Given the description of an element on the screen output the (x, y) to click on. 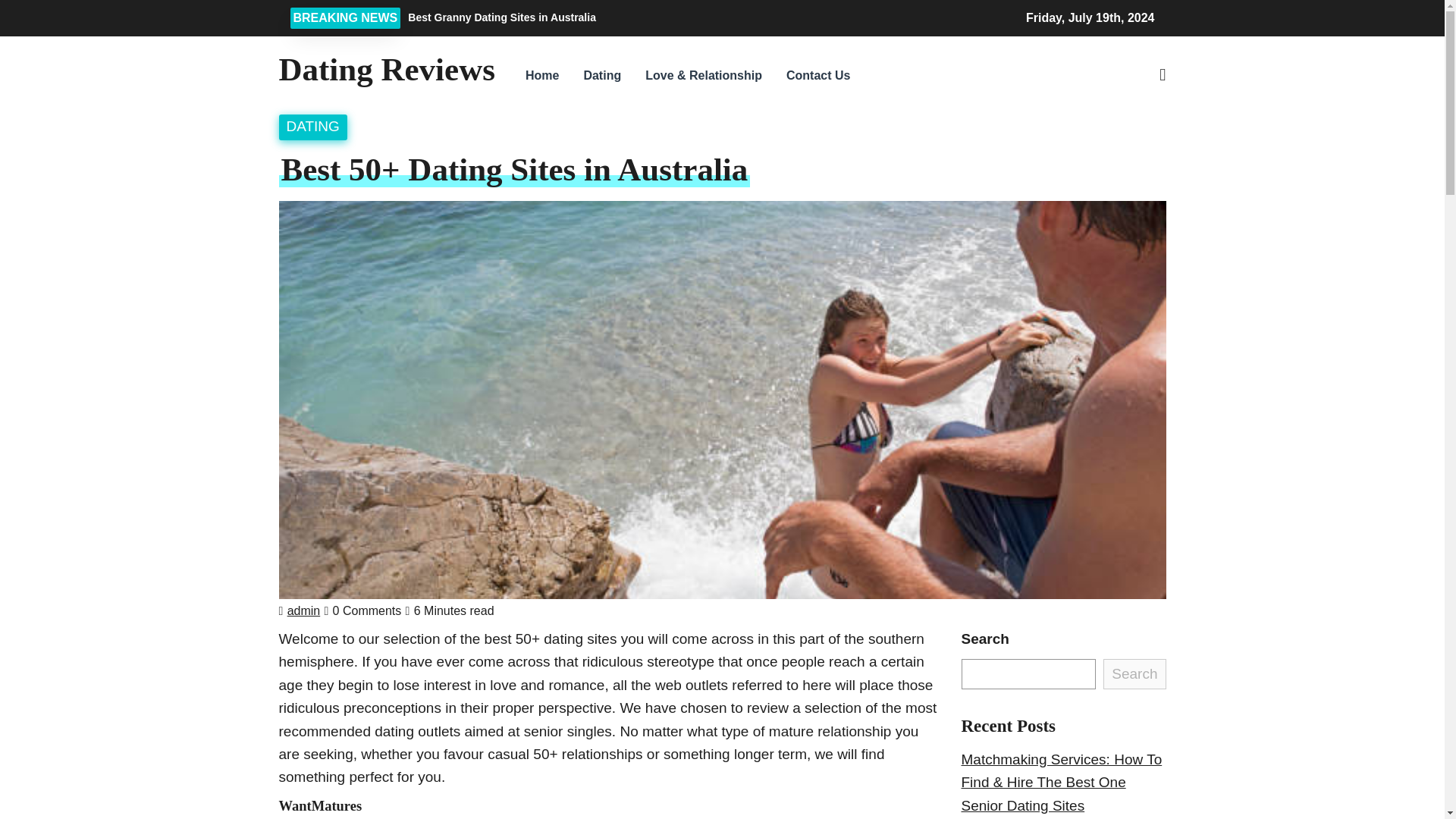
Best Granny Dating Sites in Australia (637, 17)
Home (541, 75)
Senior Dating Sites (1022, 805)
Search (1134, 674)
Dating Reviews (387, 68)
Search (1045, 156)
Contact Us (817, 75)
admin (303, 610)
DATING (312, 125)
Dating (601, 75)
